Given the description of an element on the screen output the (x, y) to click on. 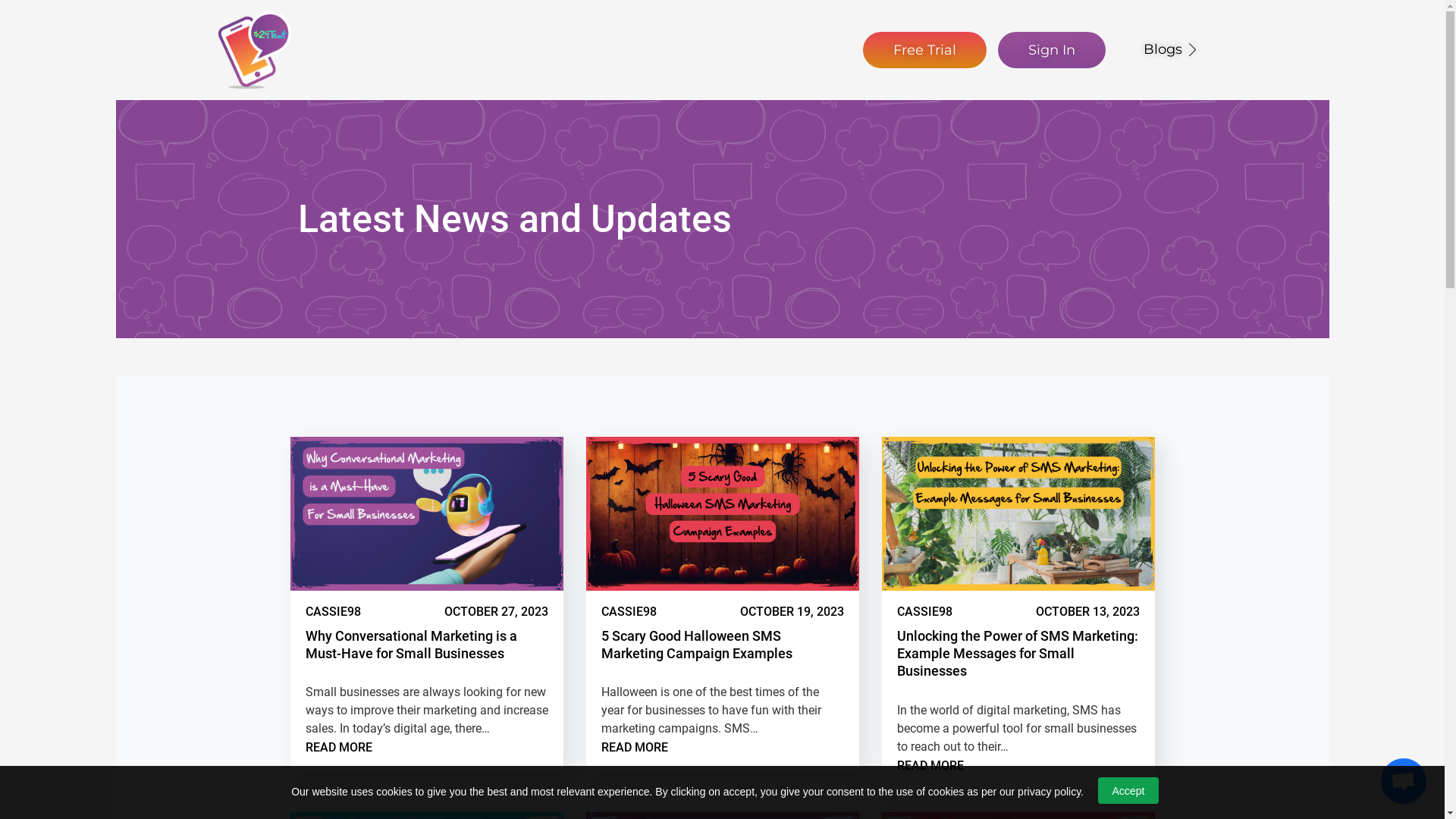
CASSIE98 Element type: text (332, 611)
CASSIE98 Element type: text (923, 611)
Blogs Element type: text (1171, 50)
READ MORE Element type: text (929, 765)
READ MORE Element type: text (633, 747)
CASSIE98 Element type: text (627, 611)
Sign In Element type: text (1051, 49)
Free Trial Element type: text (924, 49)
READ MORE Element type: text (337, 747)
5 Scary Good Halloween SMS Marketing Campaign Examples Element type: text (695, 644)
